Given the description of an element on the screen output the (x, y) to click on. 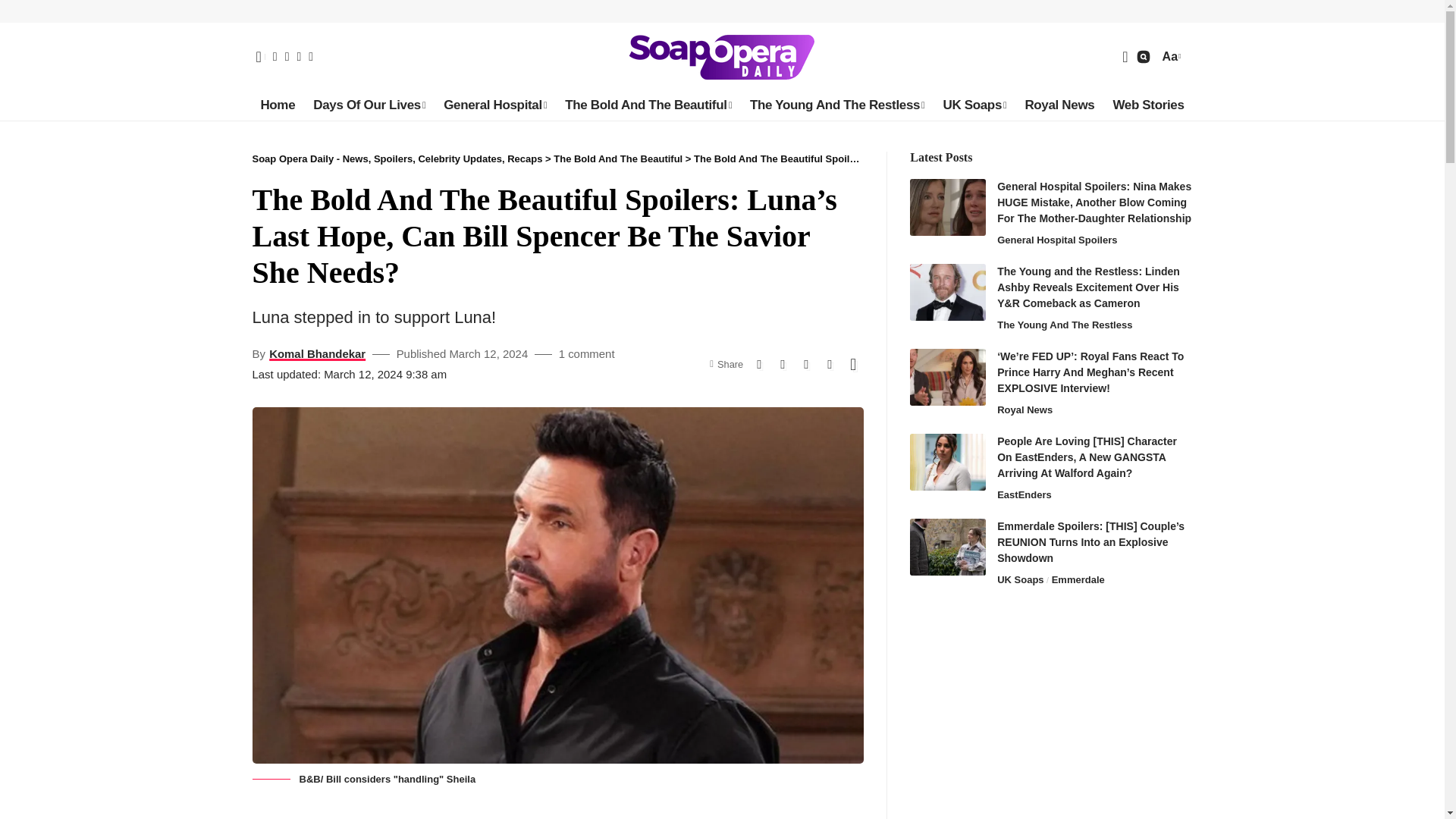
Web Stories (1147, 105)
Soap Opera Daily - News, Spoilers, Celebrity Updates, Recaps (721, 56)
General Hospital (494, 105)
Go to the The Bold And The Beautiful Category archives. (617, 158)
The Young And The Restless (837, 105)
UK Soaps (973, 105)
Home (277, 105)
Days Of Our Lives (368, 105)
